Given the description of an element on the screen output the (x, y) to click on. 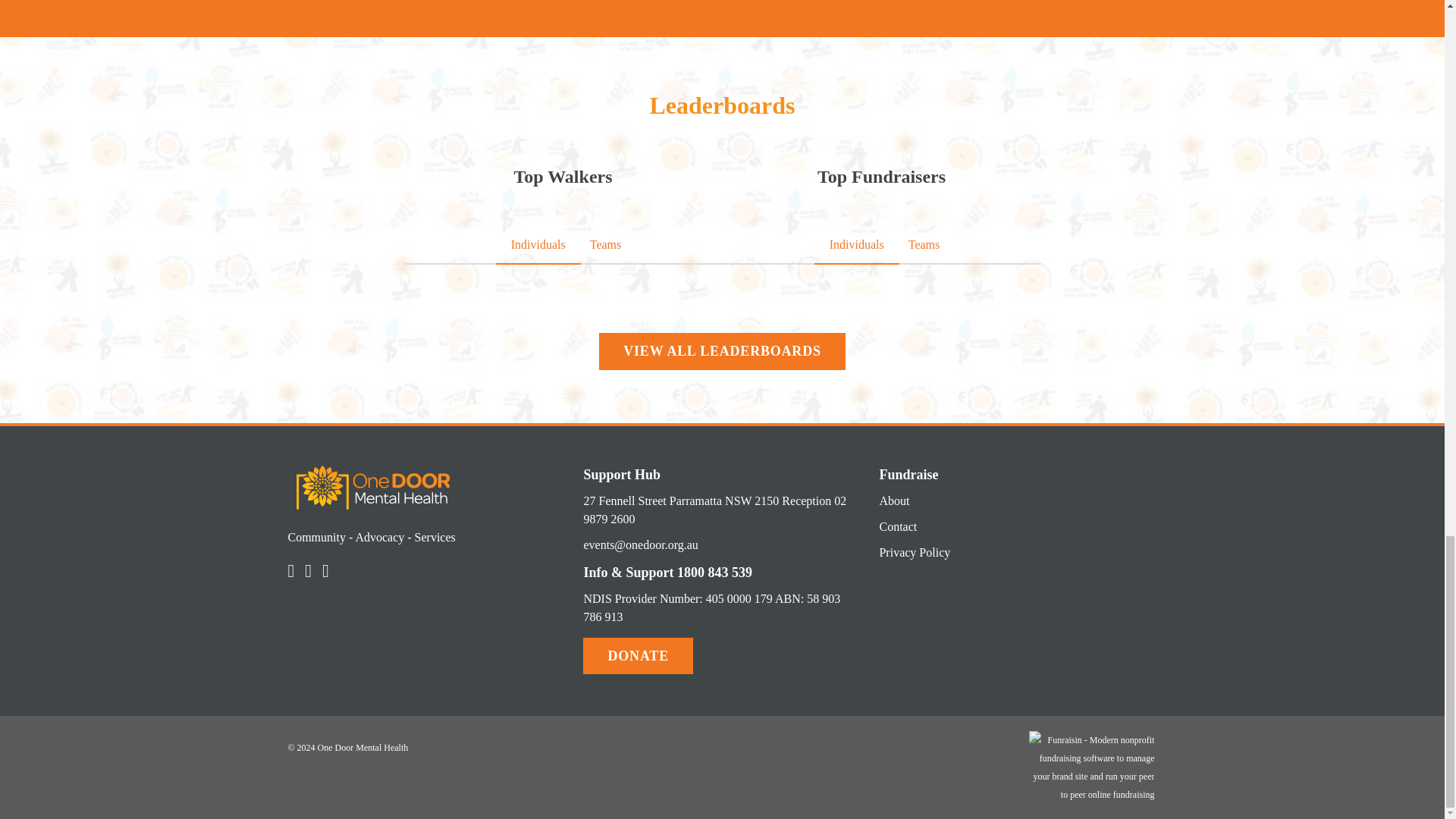
Teams (924, 244)
Individuals (856, 244)
Individuals (538, 244)
Teams (606, 244)
